Given the description of an element on the screen output the (x, y) to click on. 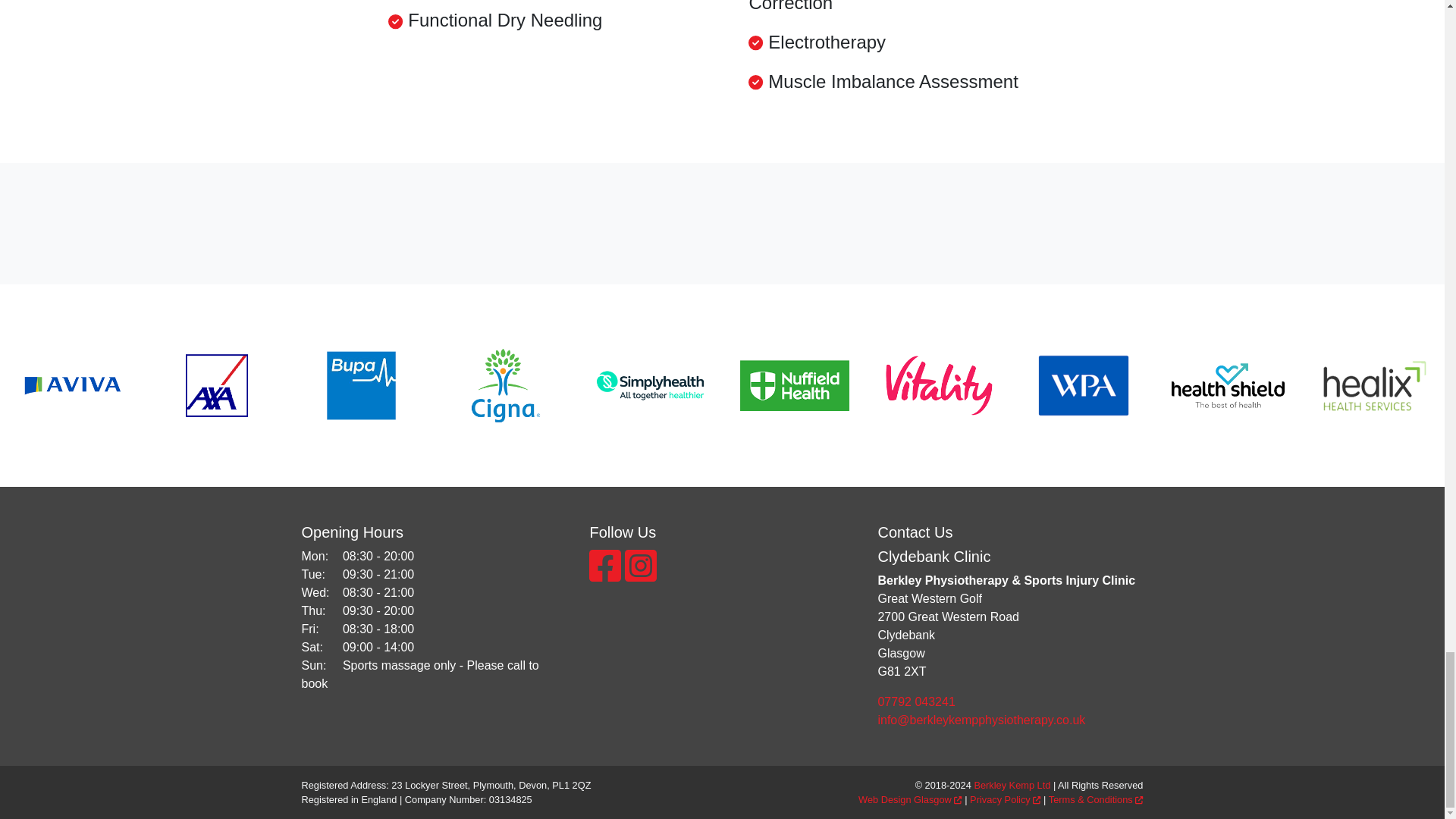
Opens in a New Window - Terms and Conditions (1095, 799)
Web Design Glasgow (910, 799)
Opens in a New Window - Easy Web Sites (910, 799)
Berkley Kemp Ltd (1011, 785)
Privacy Policy (1005, 799)
Opens in a New Window - Instagram (640, 574)
Opens in a New Window - Privacy Policy (1005, 799)
Opens in a New Window - Facebook (606, 574)
07792 043241 (1009, 701)
